Given the description of an element on the screen output the (x, y) to click on. 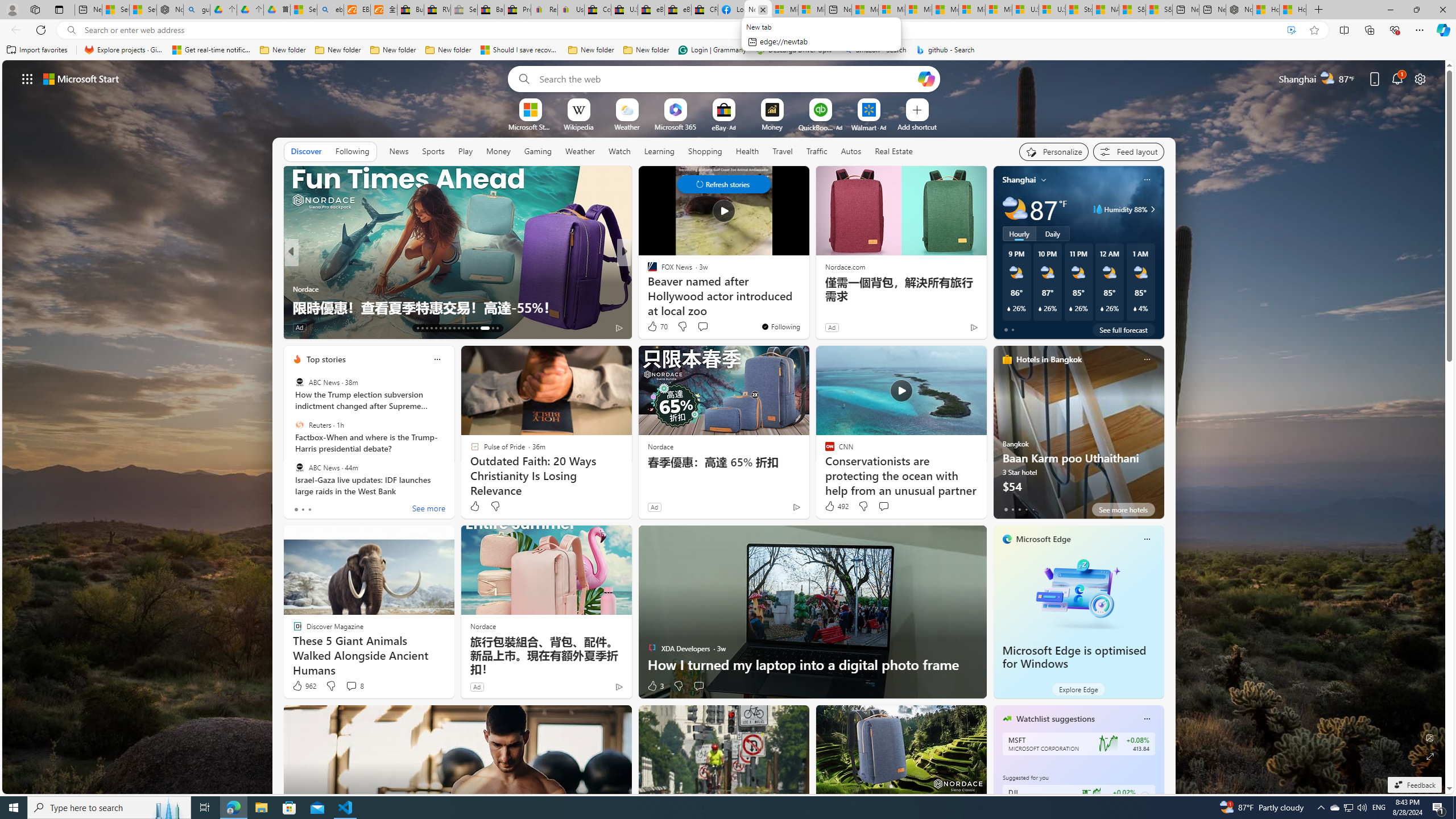
Reuters (299, 424)
Shanghai (1018, 179)
Gaming (537, 151)
AutomationID: tab-17 (435, 328)
492 Like (835, 505)
Class: control (723, 184)
Hourly (1018, 233)
Autos (850, 151)
AutomationID: tab-23 (462, 328)
To get missing image descriptions, open the context menu. (529, 109)
Favorites bar (728, 49)
Register: Create a personal eBay account (543, 9)
